Given the description of an element on the screen output the (x, y) to click on. 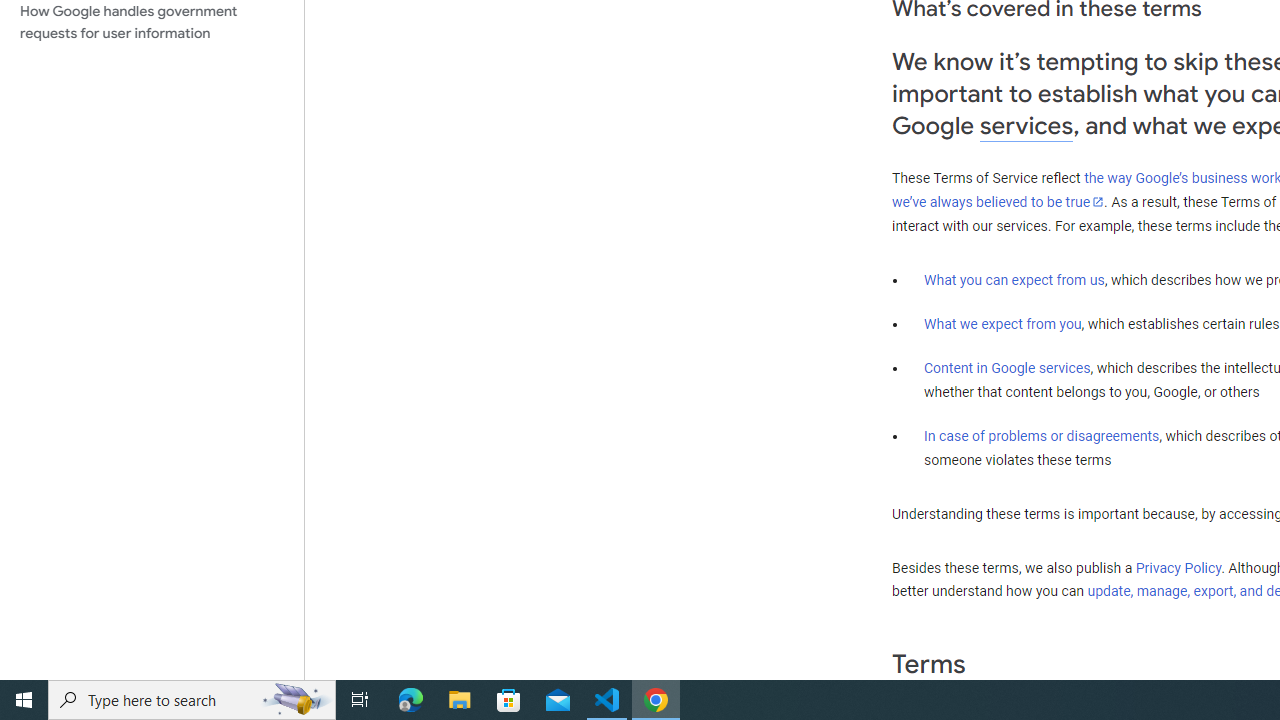
In case of problems or disagreements (1041, 435)
Content in Google services (1007, 368)
What you can expect from us (1014, 279)
What we expect from you (1002, 323)
services (1026, 125)
